Given the description of an element on the screen output the (x, y) to click on. 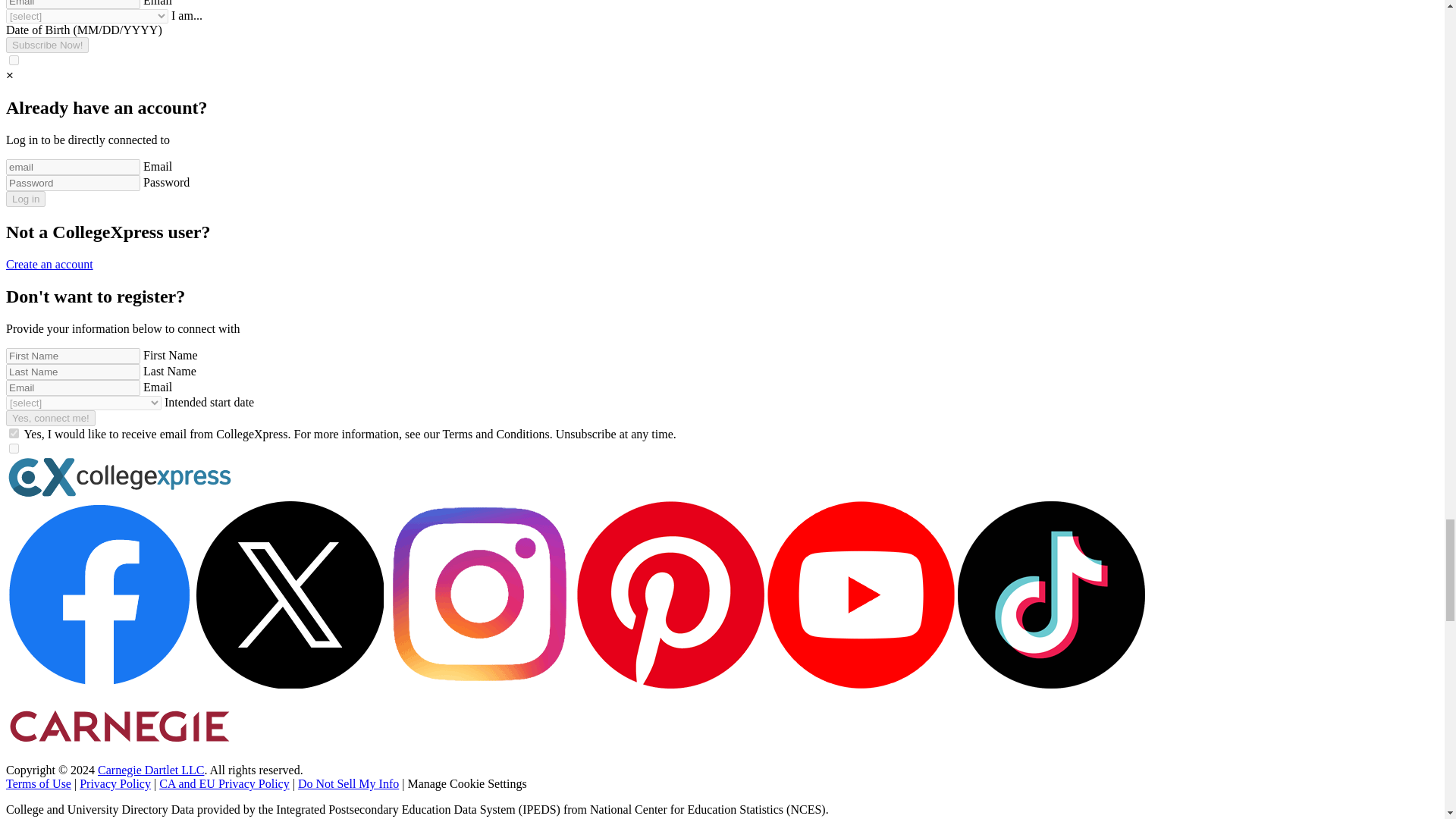
1 (13, 60)
1 (13, 448)
TikTok (1051, 684)
Instagram (480, 684)
X, formerly known as Twitter (290, 684)
Pinterest (670, 684)
Facebook (99, 684)
YouTube (861, 684)
1 (13, 433)
